Given the description of an element on the screen output the (x, y) to click on. 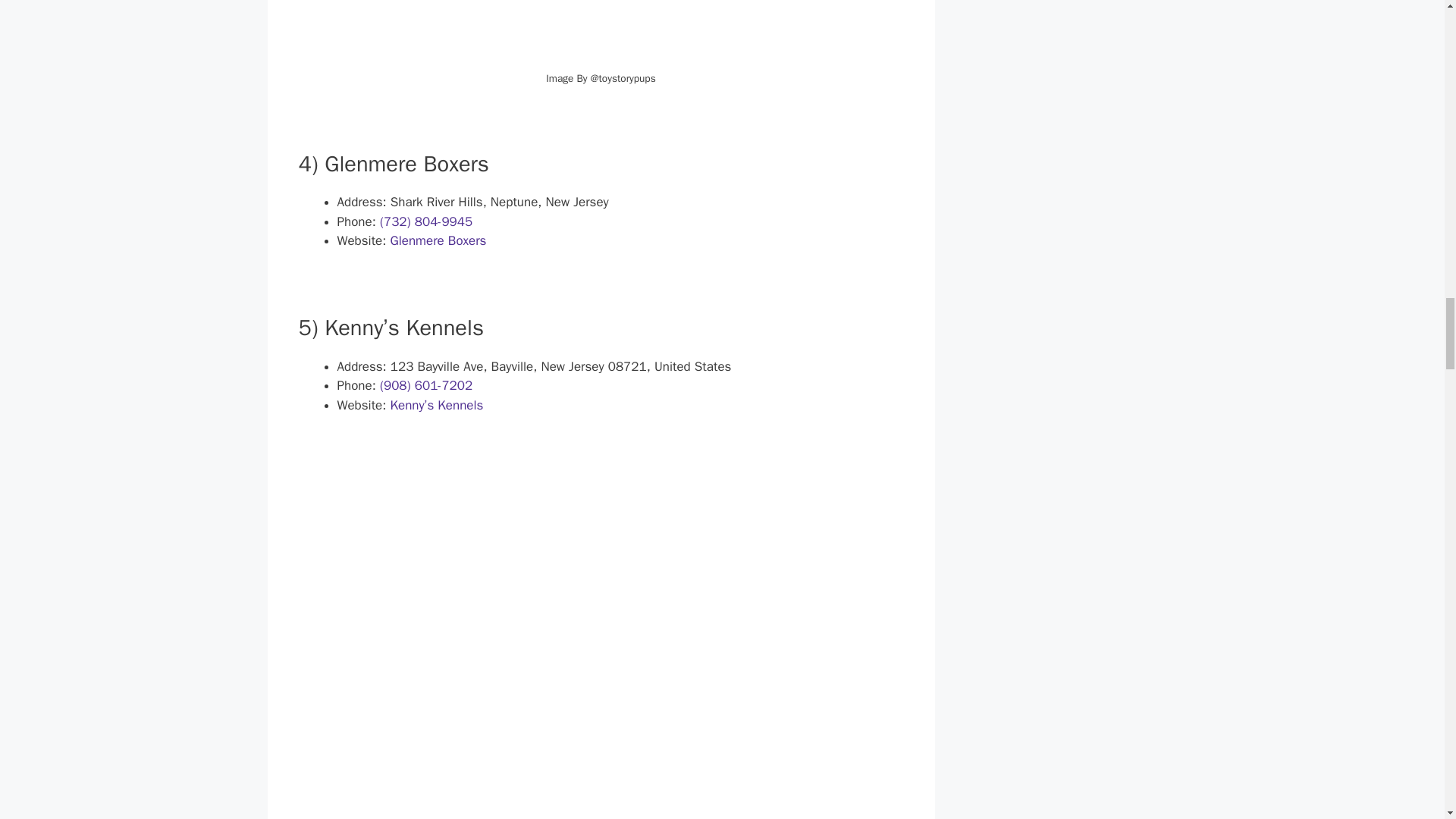
Glenmere Boxers (438, 240)
Boxer Dog (600, 34)
